Given the description of an element on the screen output the (x, y) to click on. 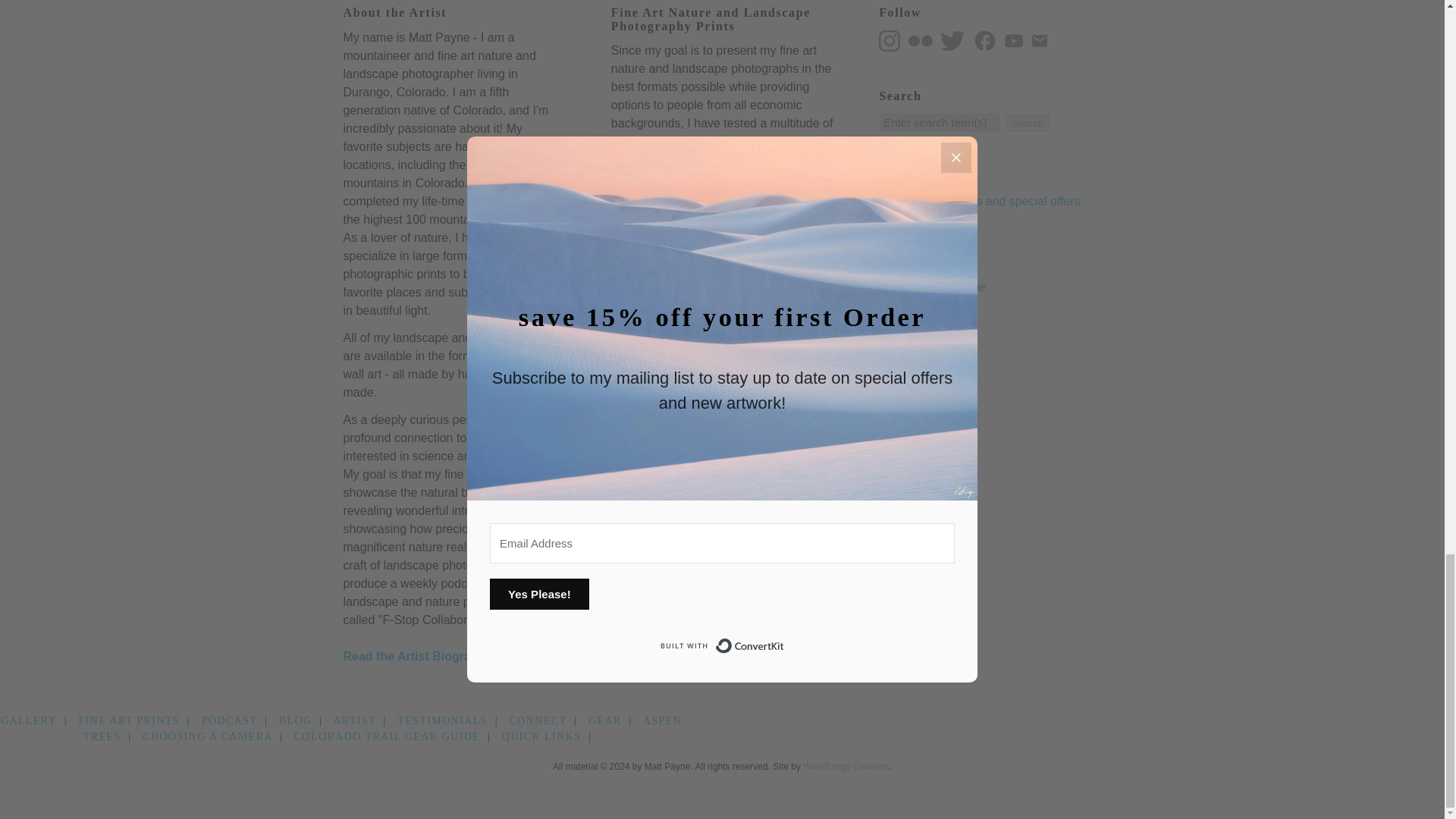
Follow on YouTube (1013, 40)
Follow on Facebook (986, 39)
Follow on Flickr (920, 40)
Email Signup (1041, 39)
Read the Artist Biography (417, 656)
Follow on Flickr (922, 39)
Follow on Twitter (951, 40)
Follow on YouTube (1015, 39)
Follow on Twitter (954, 39)
Follow on Instagram (889, 40)
Follow on Instagram (891, 39)
